Given the description of an element on the screen output the (x, y) to click on. 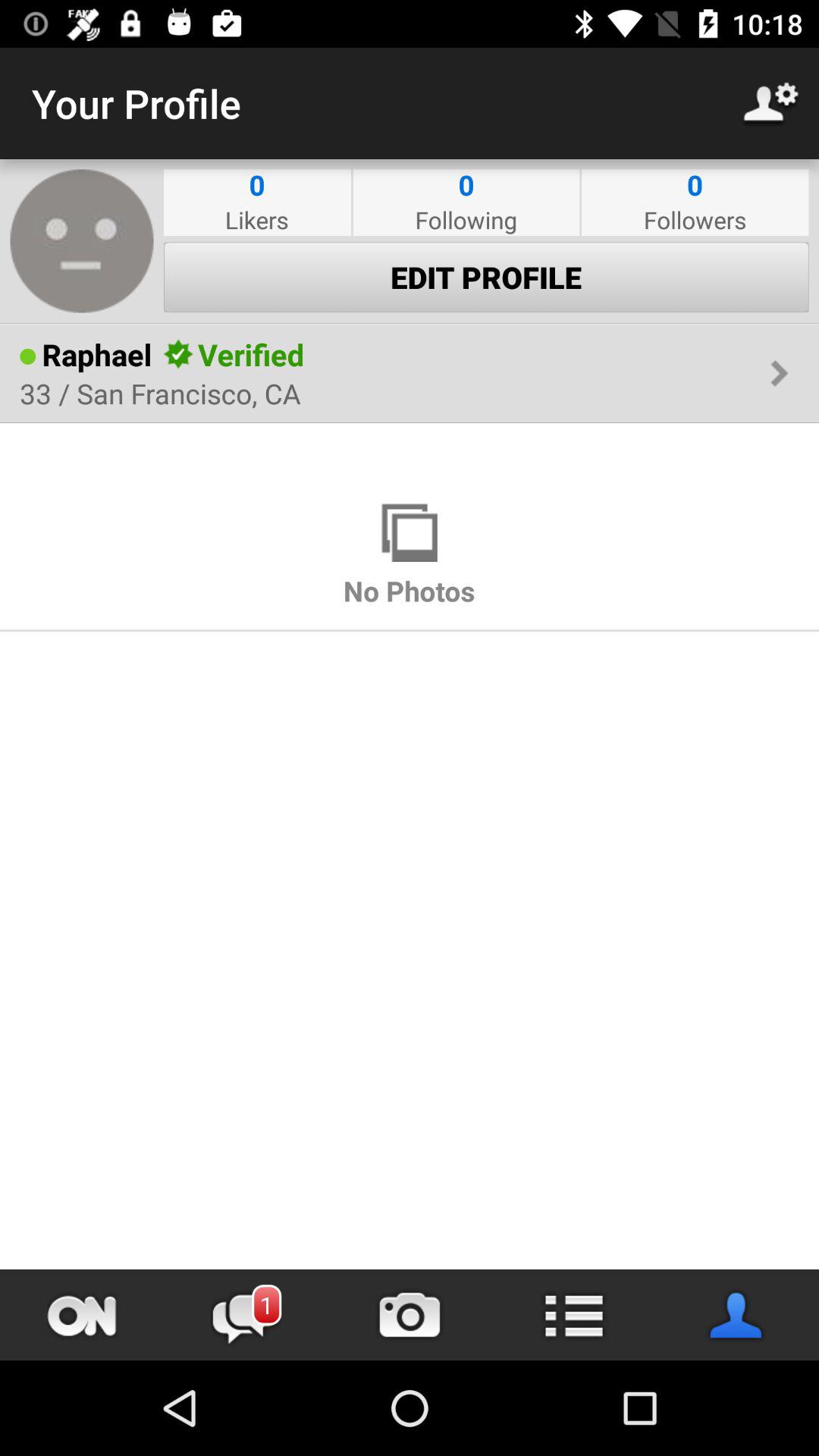
take you to home page (81, 1315)
